Given the description of an element on the screen output the (x, y) to click on. 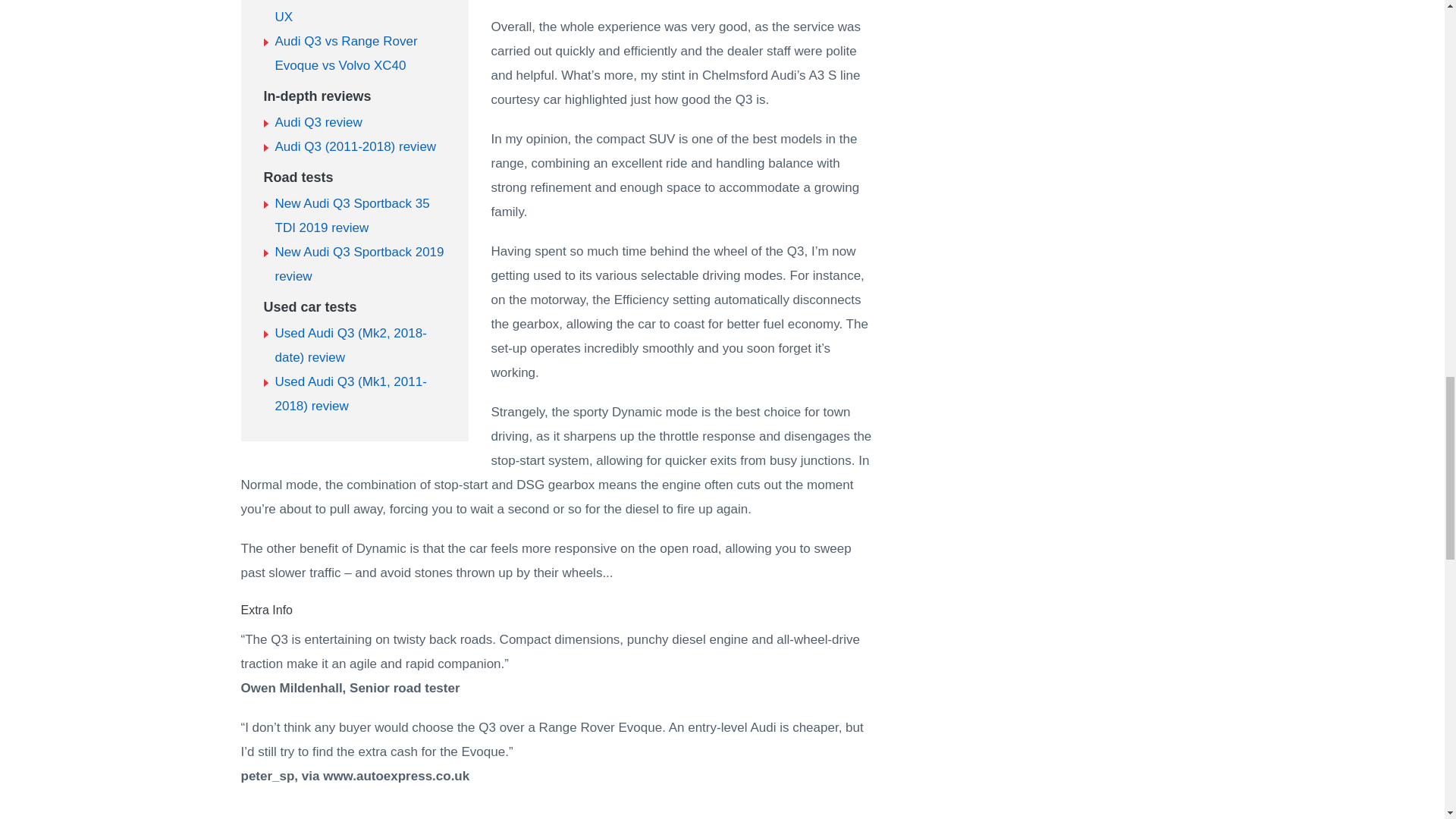
New Audi Q3 Sportback 2019 review (359, 263)
Audi Q3 Sportback vs Lexus UX (356, 12)
Audi Q3 review (318, 122)
Audi Q3 vs Range Rover Evoque vs Volvo XC40 (345, 53)
New Audi Q3 Sportback 35 TDI 2019 review (352, 215)
